Given the description of an element on the screen output the (x, y) to click on. 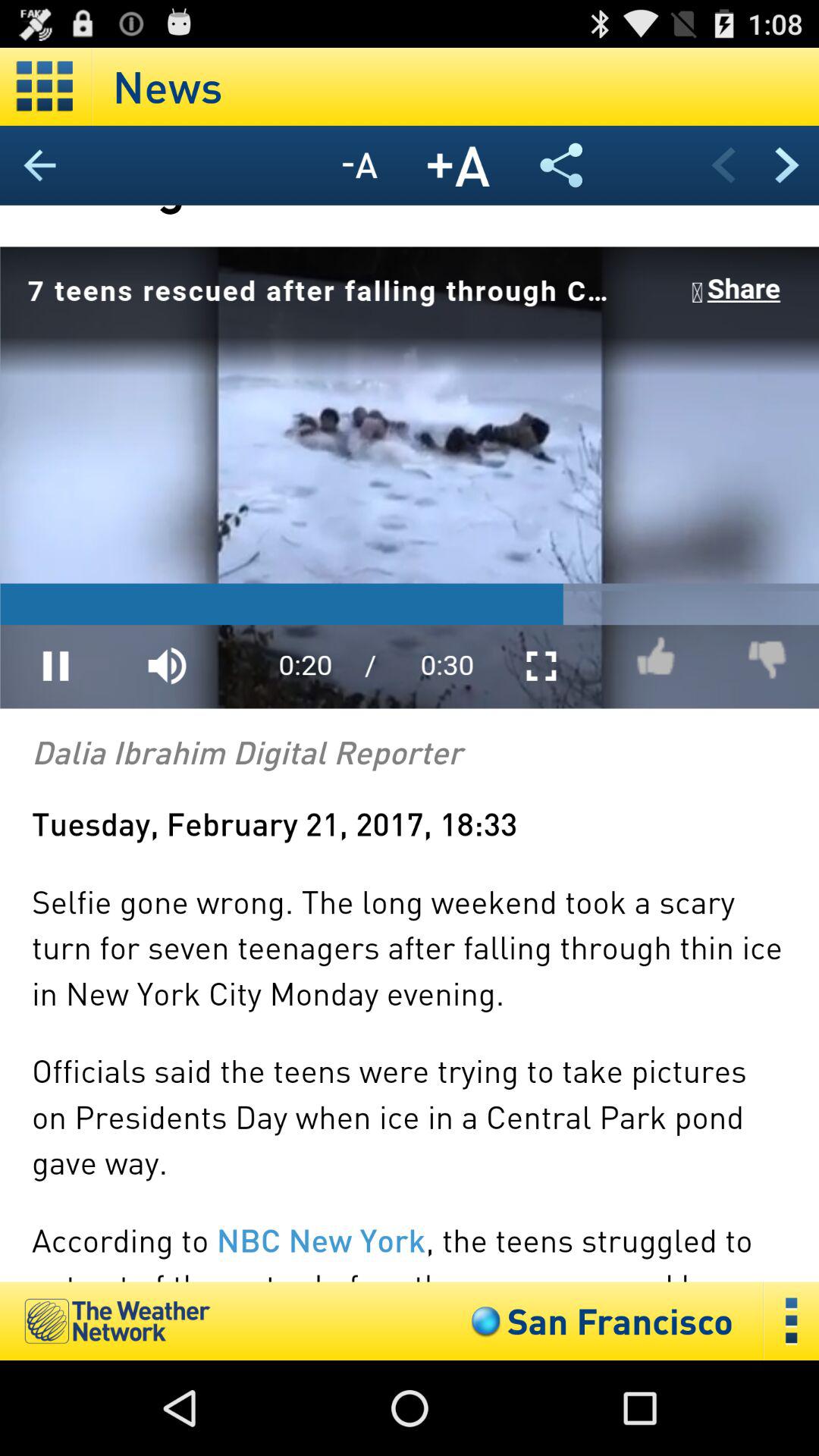
letter size increasing (458, 165)
